Given the description of an element on the screen output the (x, y) to click on. 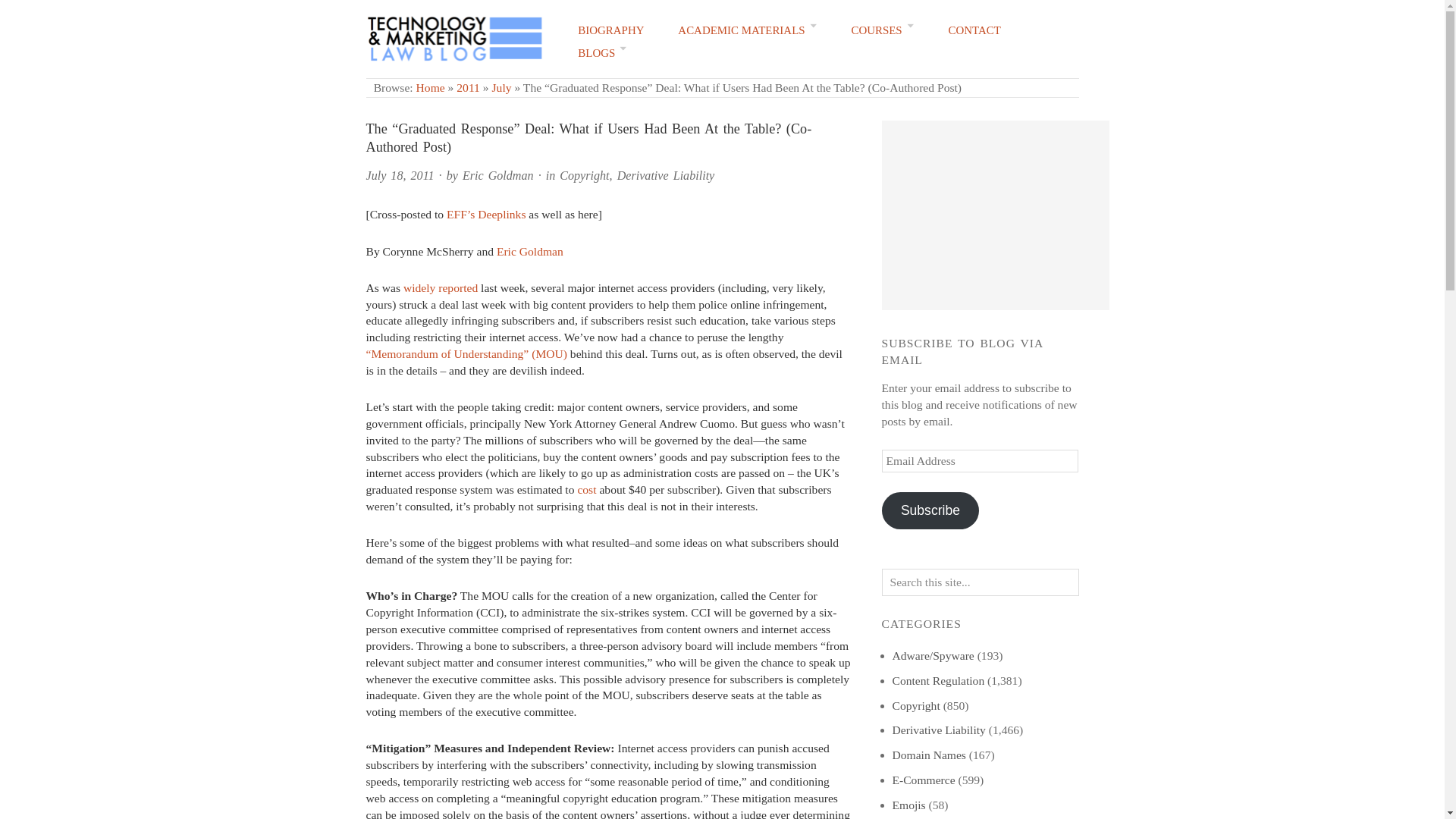
July (502, 87)
widely (419, 287)
Eric Goldman (529, 250)
BIOGRAPHY (610, 30)
Home (430, 87)
Posts by Eric Goldman (498, 174)
BLOGS (602, 53)
cost (585, 489)
Copyright (583, 174)
Search this site... (979, 582)
2011 (468, 87)
COURSES (882, 30)
July 18, 2011 (399, 174)
Search this site... (979, 582)
July 2011 (502, 87)
